Given the description of an element on the screen output the (x, y) to click on. 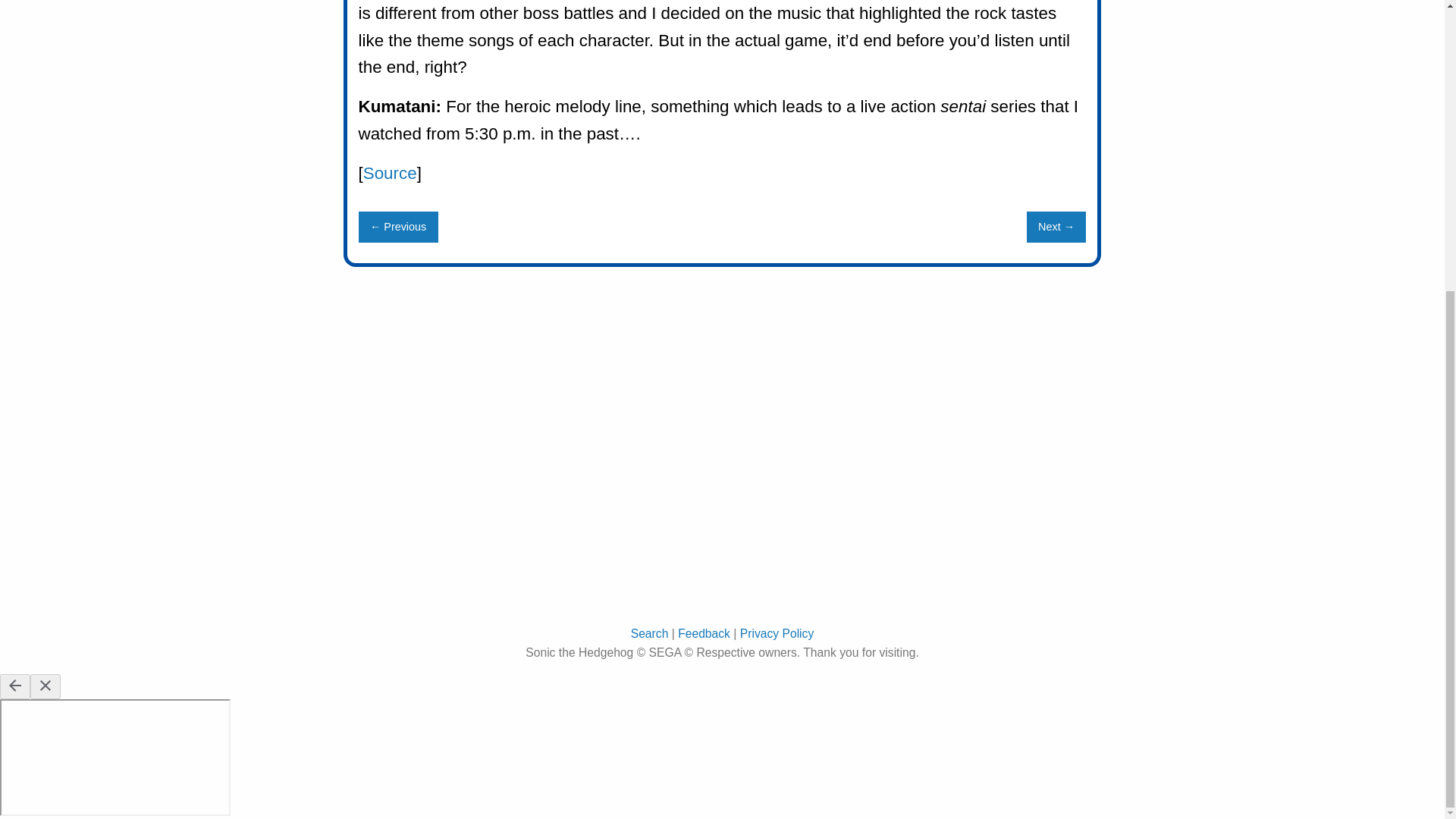
Source (389, 172)
Privacy Policy (776, 633)
Feedback (704, 633)
Search (649, 633)
